Given the description of an element on the screen output the (x, y) to click on. 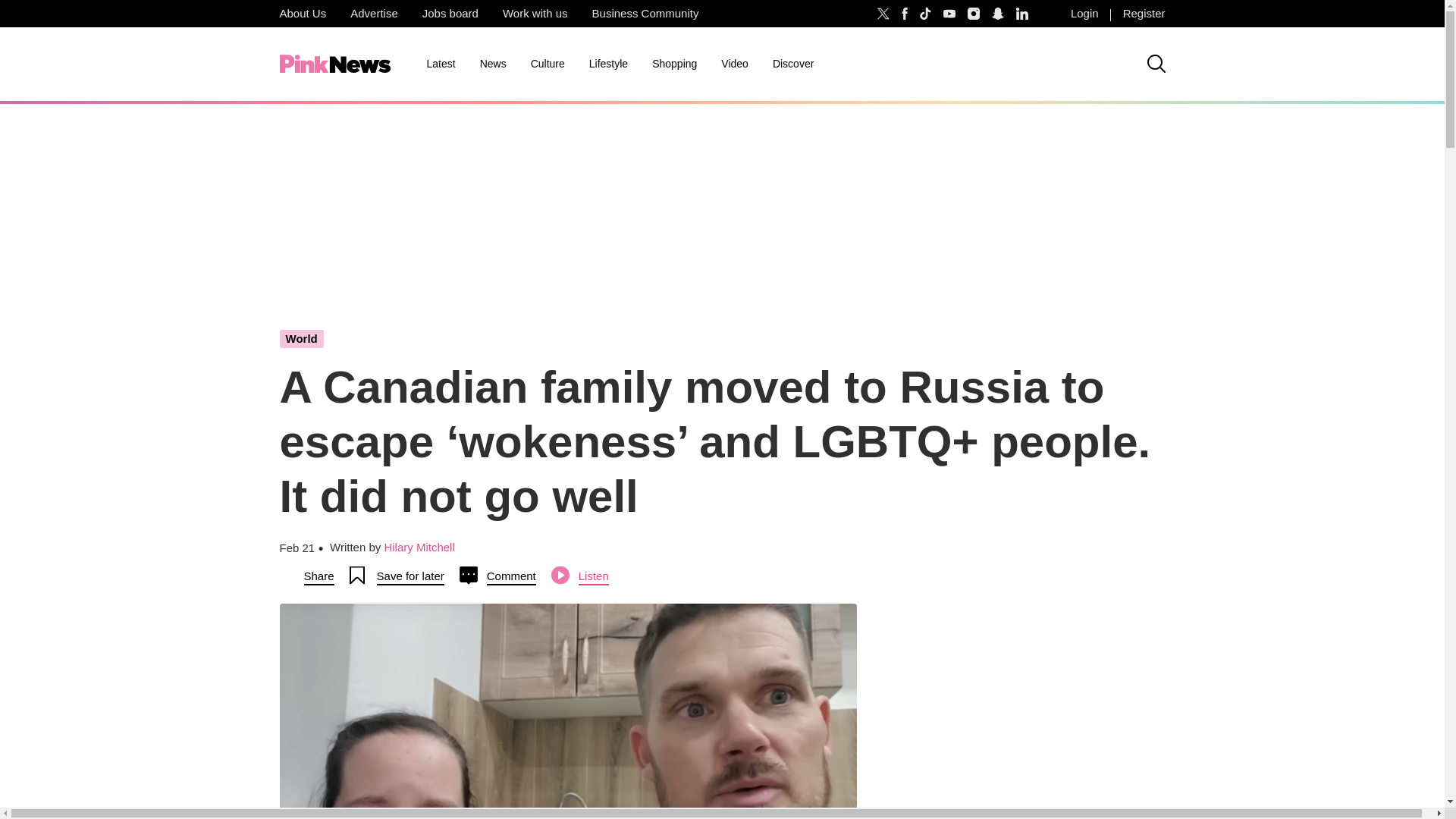
Jobs board (450, 13)
Business Community (645, 13)
Login (1084, 13)
Culture (547, 63)
About Us (301, 13)
Latest (440, 63)
Work with us (534, 13)
News (493, 63)
Register (1143, 13)
Lifestyle (608, 63)
Follow PinkNews on LinkedIn (1021, 13)
Advertise (373, 13)
